Given the description of an element on the screen output the (x, y) to click on. 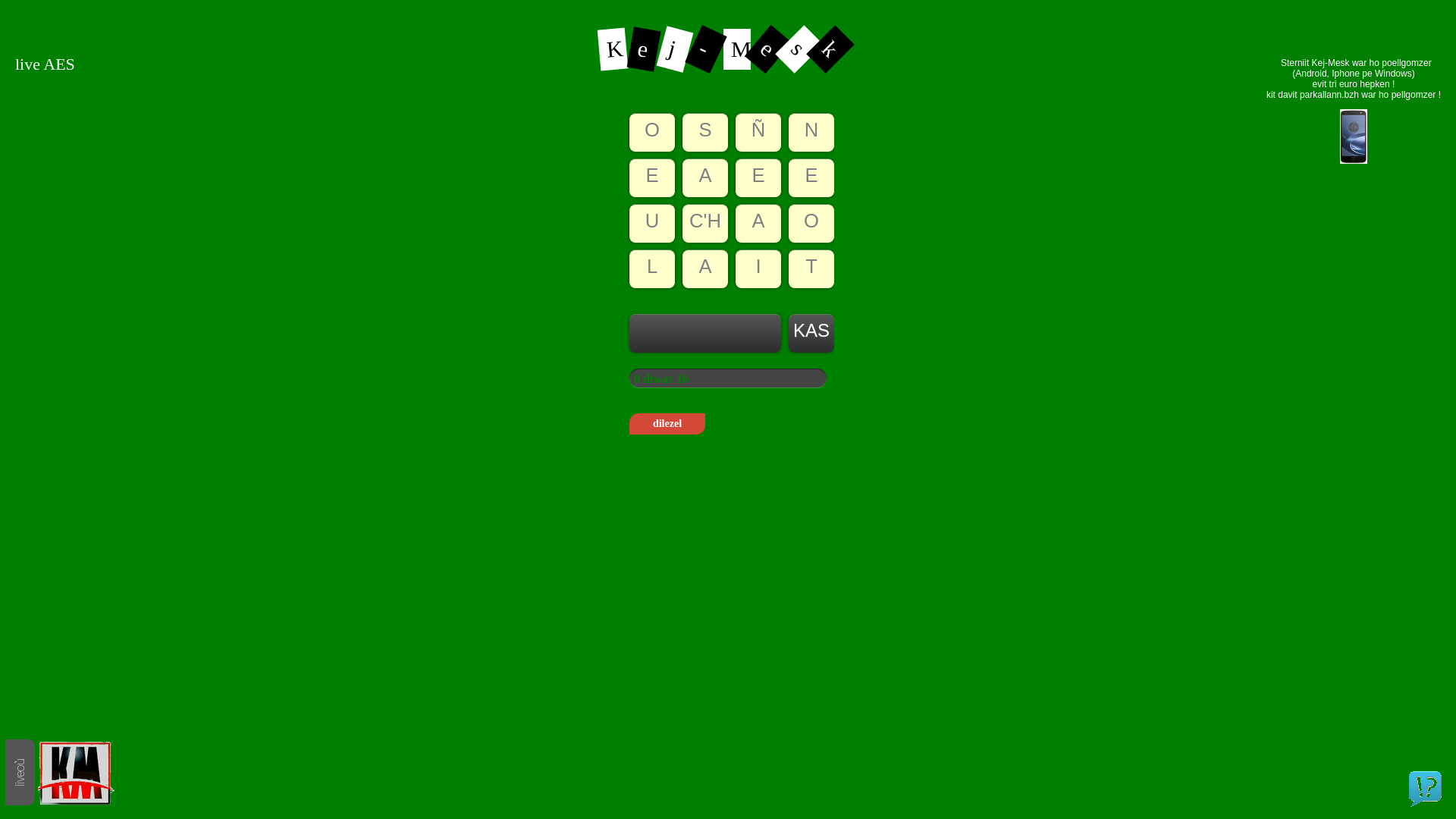
0 Element type: text (4, 4)
dilezel Element type: text (667, 423)
